Given the description of an element on the screen output the (x, y) to click on. 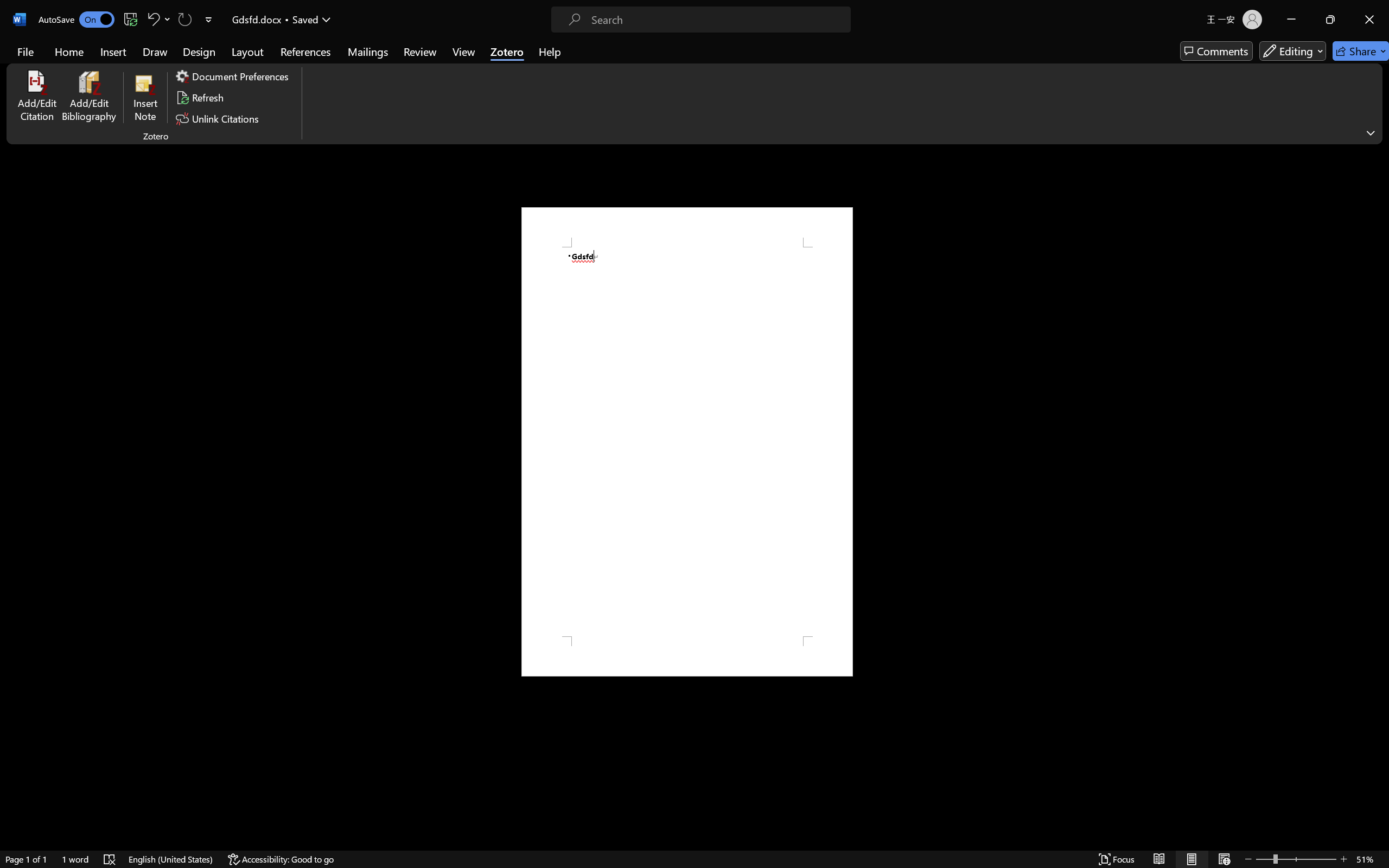
Page 1 content (686, 441)
